Given the description of an element on the screen output the (x, y) to click on. 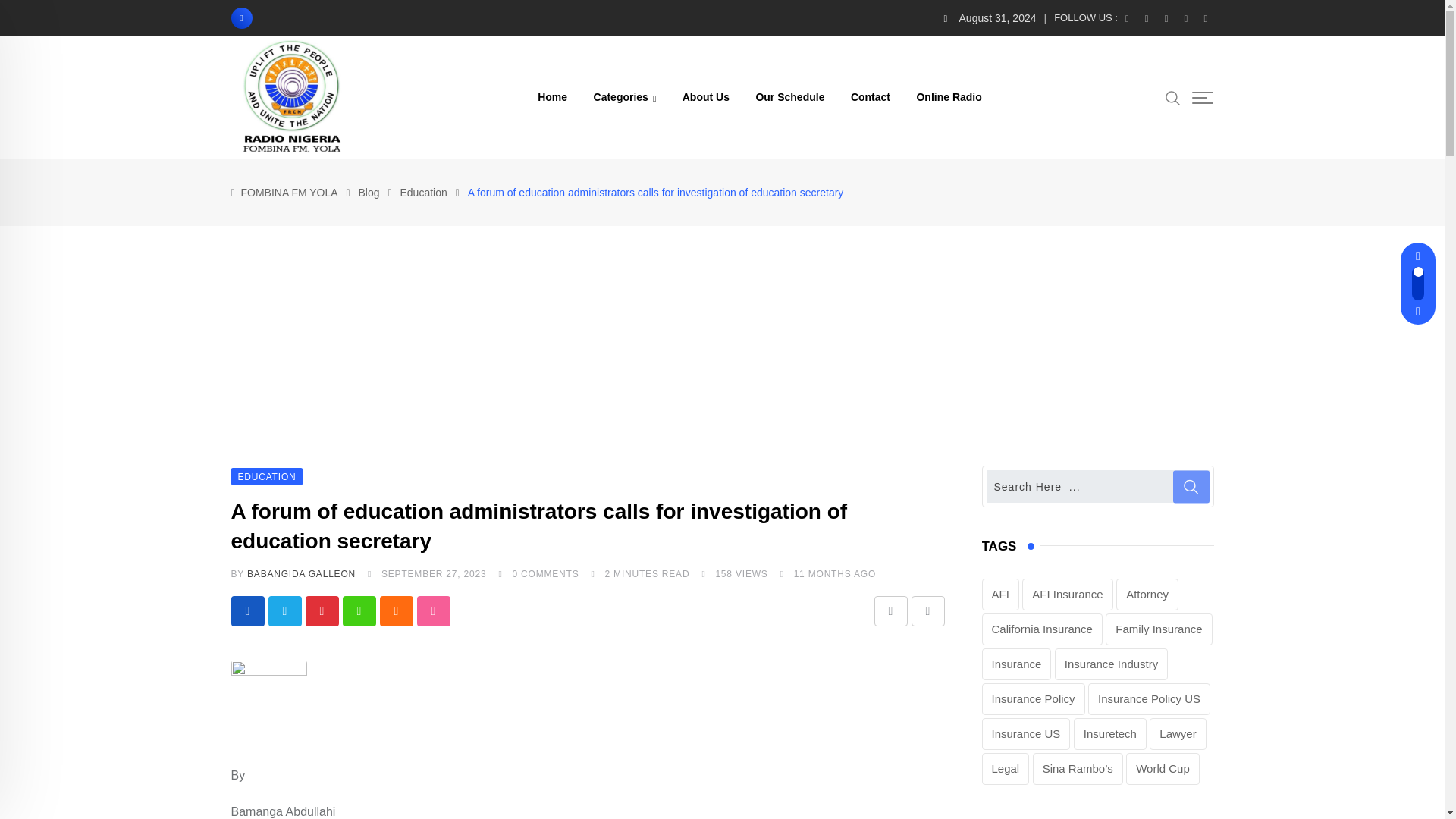
Online Radio (948, 96)
Categories (625, 97)
Search (1173, 96)
About Us (706, 96)
Go to Blog. (369, 192)
Posts by Babangida Galleon (301, 573)
Our Schedule (789, 96)
Go to FOMBINA FM YOLA. (289, 192)
Go to the Education category archives. (422, 192)
